Given the description of an element on the screen output the (x, y) to click on. 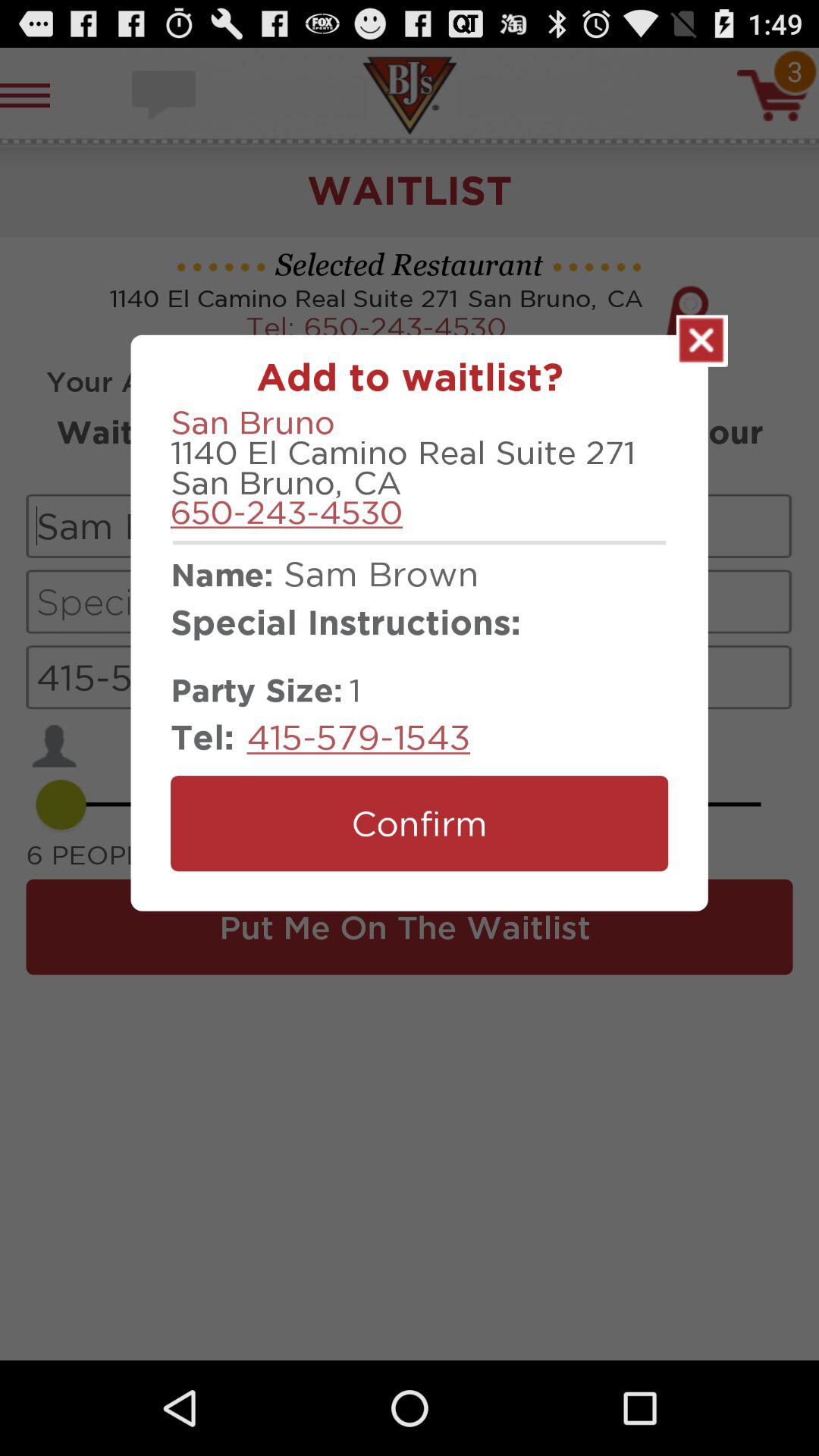
tap the app next to the tel:  icon (358, 736)
